Given the description of an element on the screen output the (x, y) to click on. 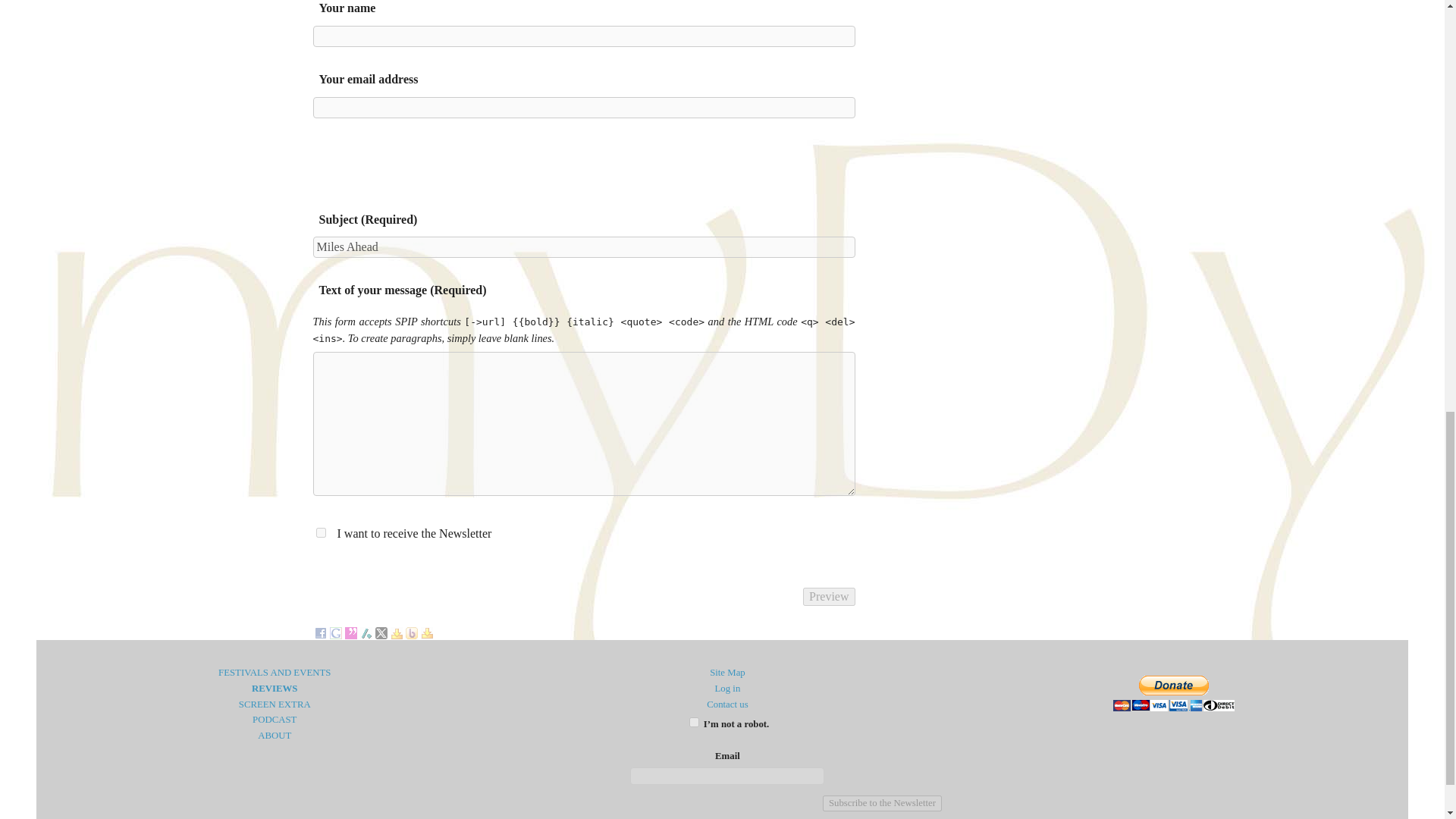
Slashdot (365, 631)
Preview (828, 597)
Yahoo! Buzz (410, 631)
1 (693, 722)
PayPal - The safer, easier way to pay online! (1173, 693)
1 (319, 532)
Preview (828, 597)
Seenthis (349, 631)
Yahoo! MyWeb (426, 631)
Preview (828, 597)
